Given the description of an element on the screen output the (x, y) to click on. 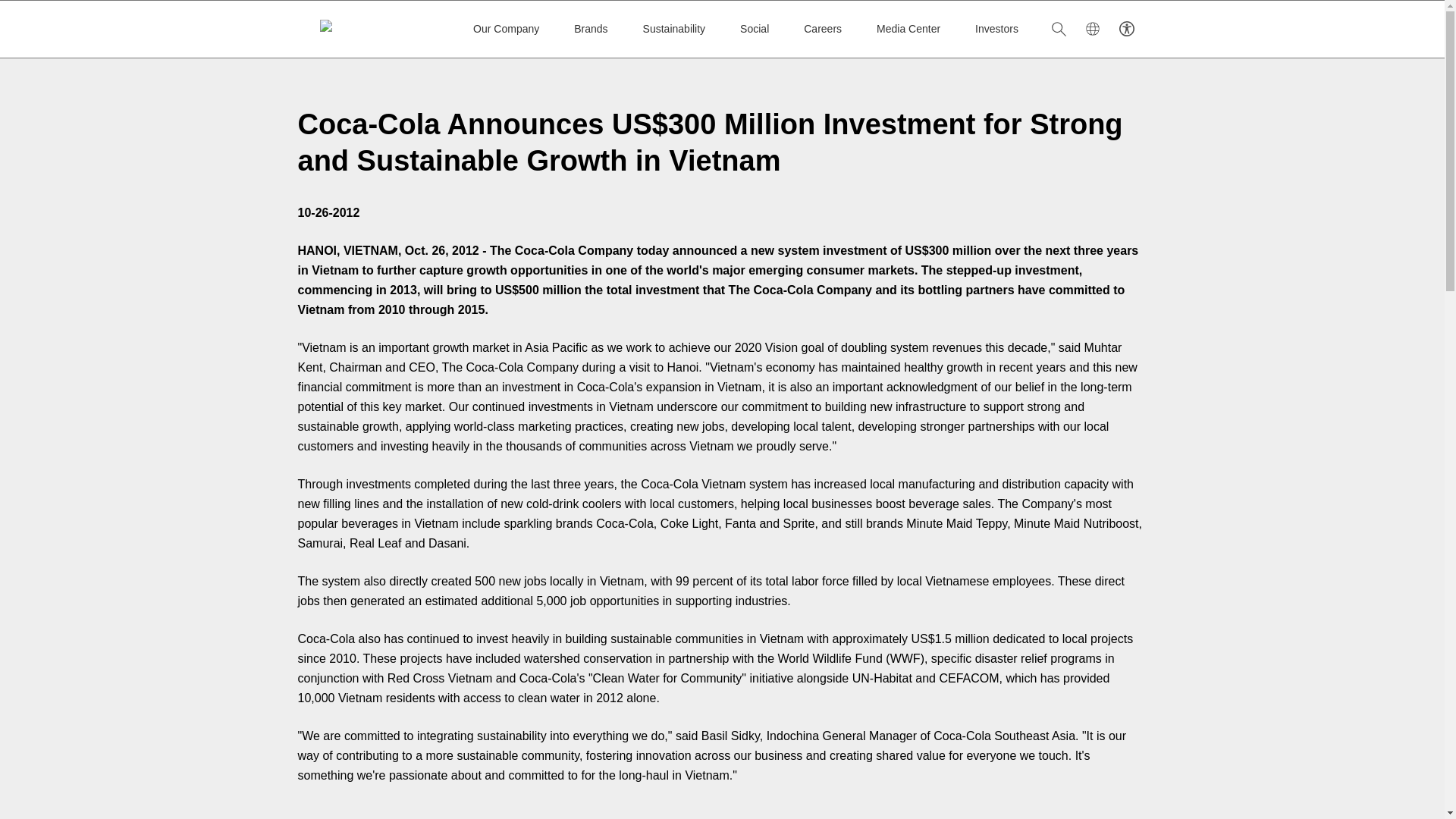
Our Company (505, 28)
Social (753, 28)
Media Center (908, 28)
Brands (590, 28)
Careers (822, 28)
the-coca-cola-company-logo.svg (379, 28)
Investors (996, 28)
Sustainability (674, 28)
